Given the description of an element on the screen output the (x, y) to click on. 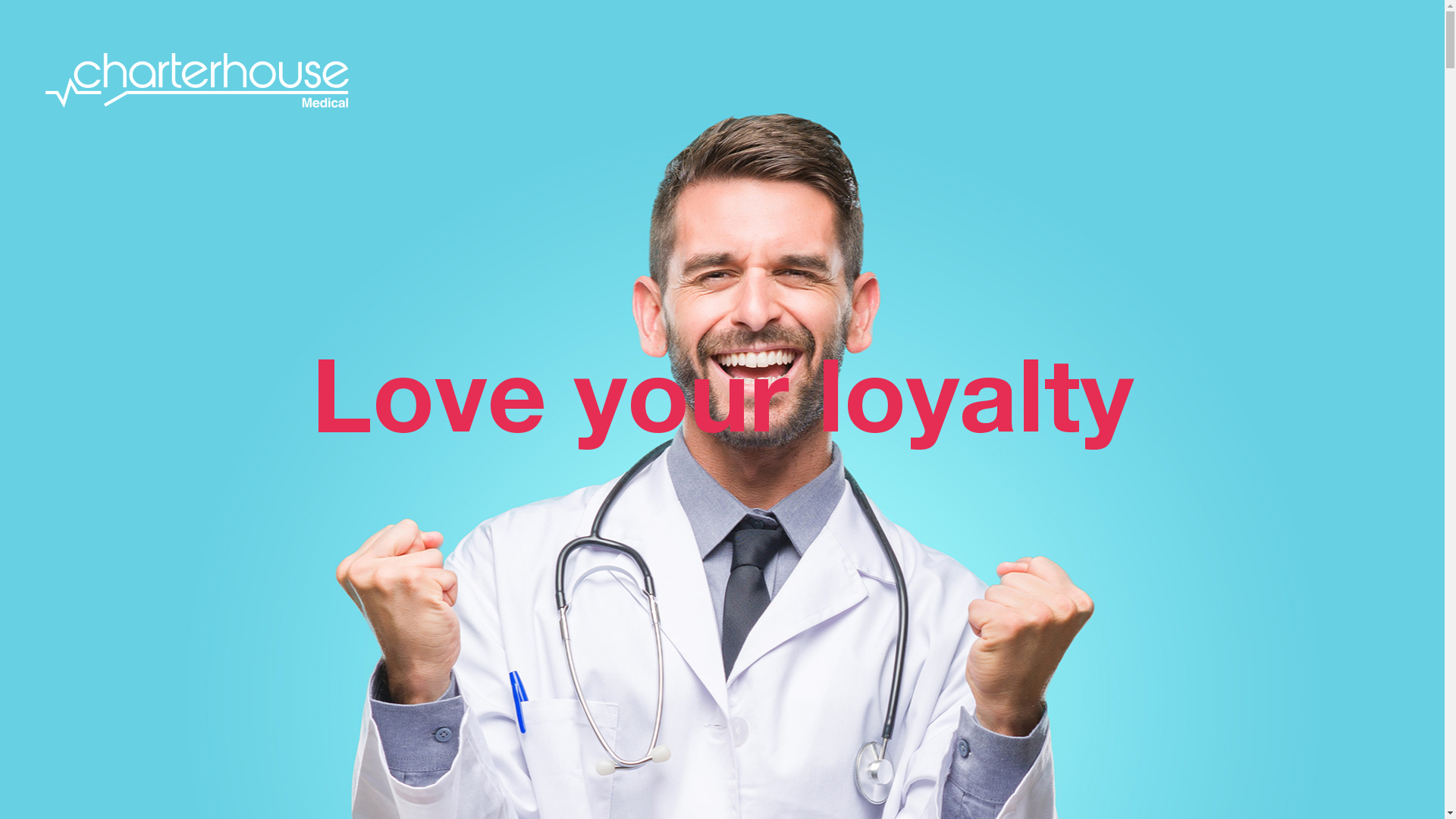
Charterhouse Medical Element type: hover (196, 80)
